Given the description of an element on the screen output the (x, y) to click on. 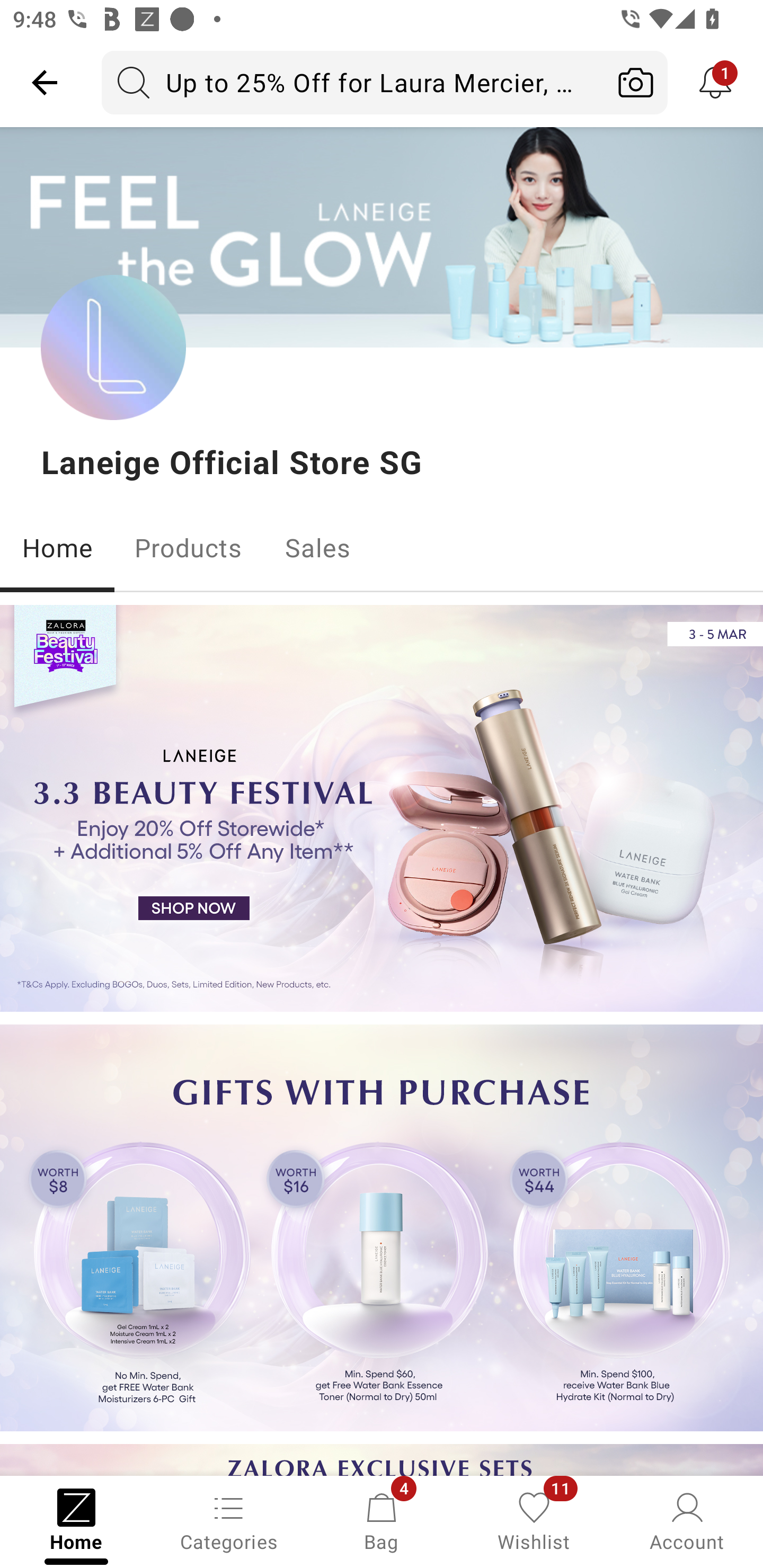
Navigate up (44, 82)
Products (187, 547)
Sales (317, 547)
Categories (228, 1519)
Bag, 4 new notifications Bag (381, 1519)
Wishlist, 11 new notifications Wishlist (533, 1519)
Account (686, 1519)
